Given the description of an element on the screen output the (x, y) to click on. 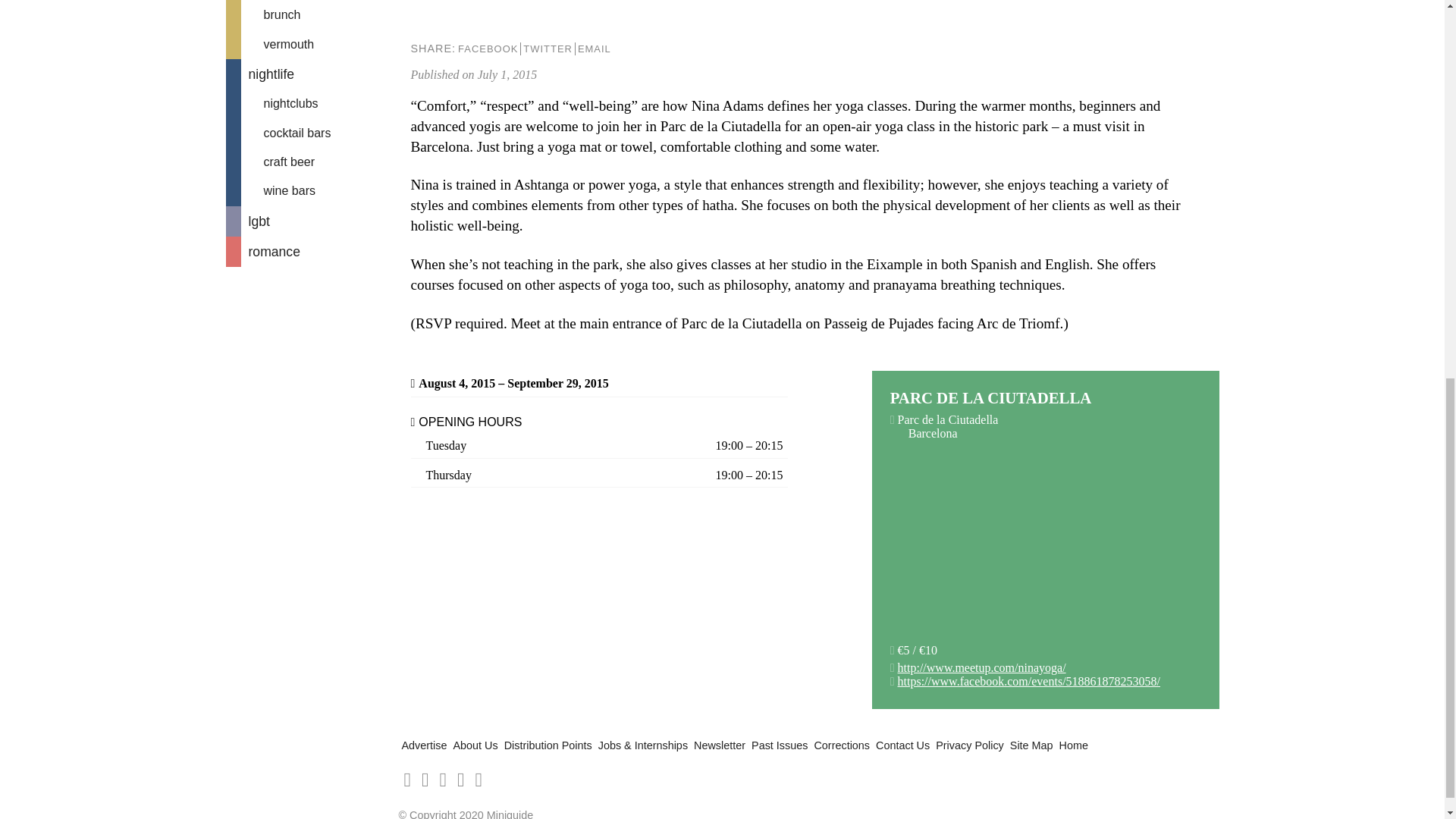
FACEBOOK (487, 48)
Distribution Points (547, 745)
nightclubs (309, 103)
nightlife (309, 73)
About Us (474, 745)
cocktail bars (309, 133)
wine bars (309, 190)
Advertise (423, 745)
craft beer (309, 162)
vermouth (309, 44)
EMAIL (593, 48)
lgbt (309, 221)
Newsletter (719, 745)
TWITTER (547, 48)
